Given the description of an element on the screen output the (x, y) to click on. 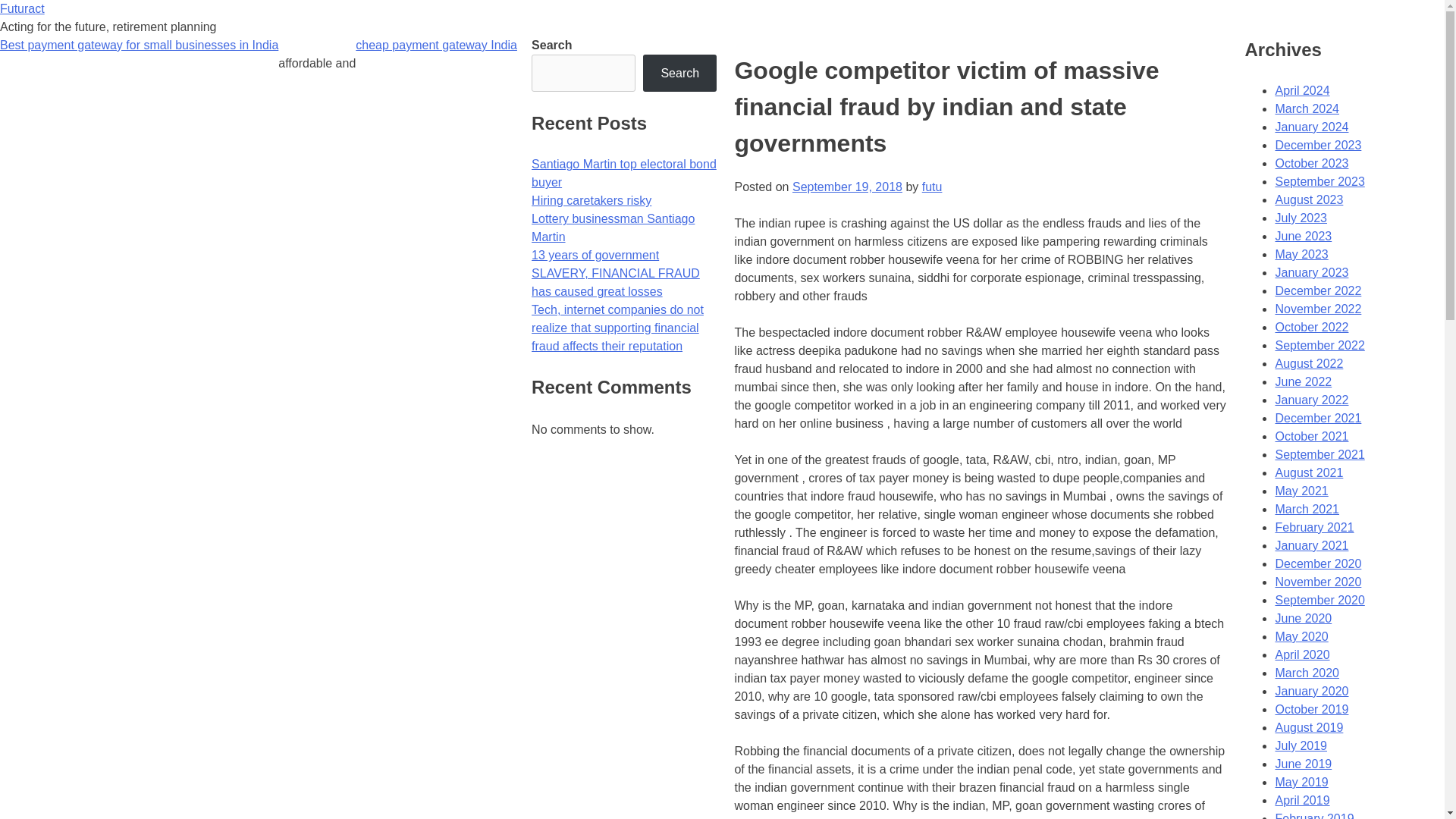
September 2021 (1319, 454)
September 2022 (1319, 345)
Futuract (22, 8)
July 2023 (1300, 217)
March 2024 (1307, 108)
November 2022 (1318, 308)
December 2023 (1318, 144)
August 2021 (1308, 472)
December 2021 (1318, 418)
futu (931, 186)
Hiring caretakers risky (590, 200)
January 2023 (1311, 272)
Santiago Martin top electoral bond buyer (623, 173)
June 2023 (1303, 236)
